Given the description of an element on the screen output the (x, y) to click on. 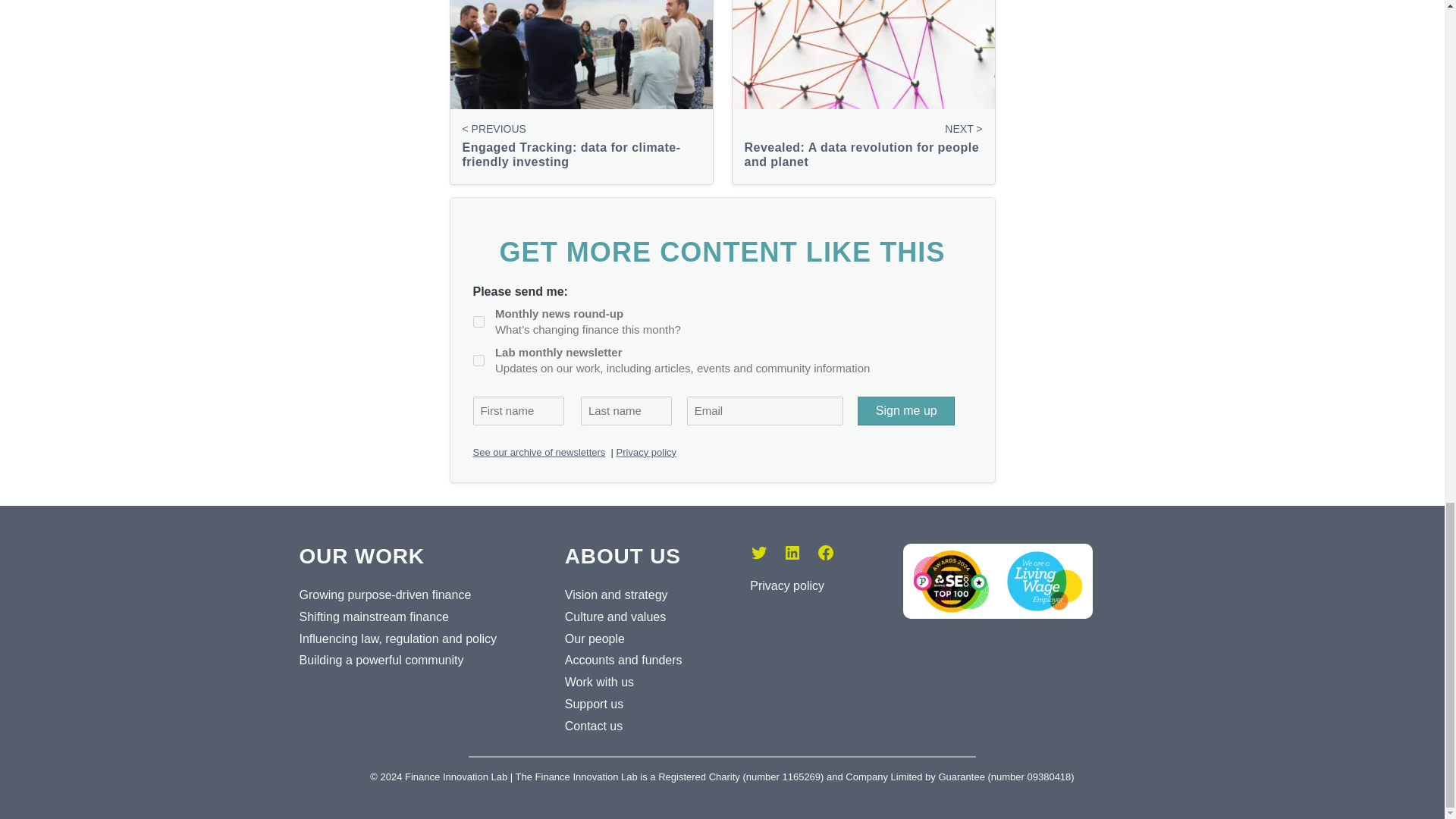
lab-news (478, 360)
Sign me up (906, 410)
ceo-roundup (478, 321)
